Given the description of an element on the screen output the (x, y) to click on. 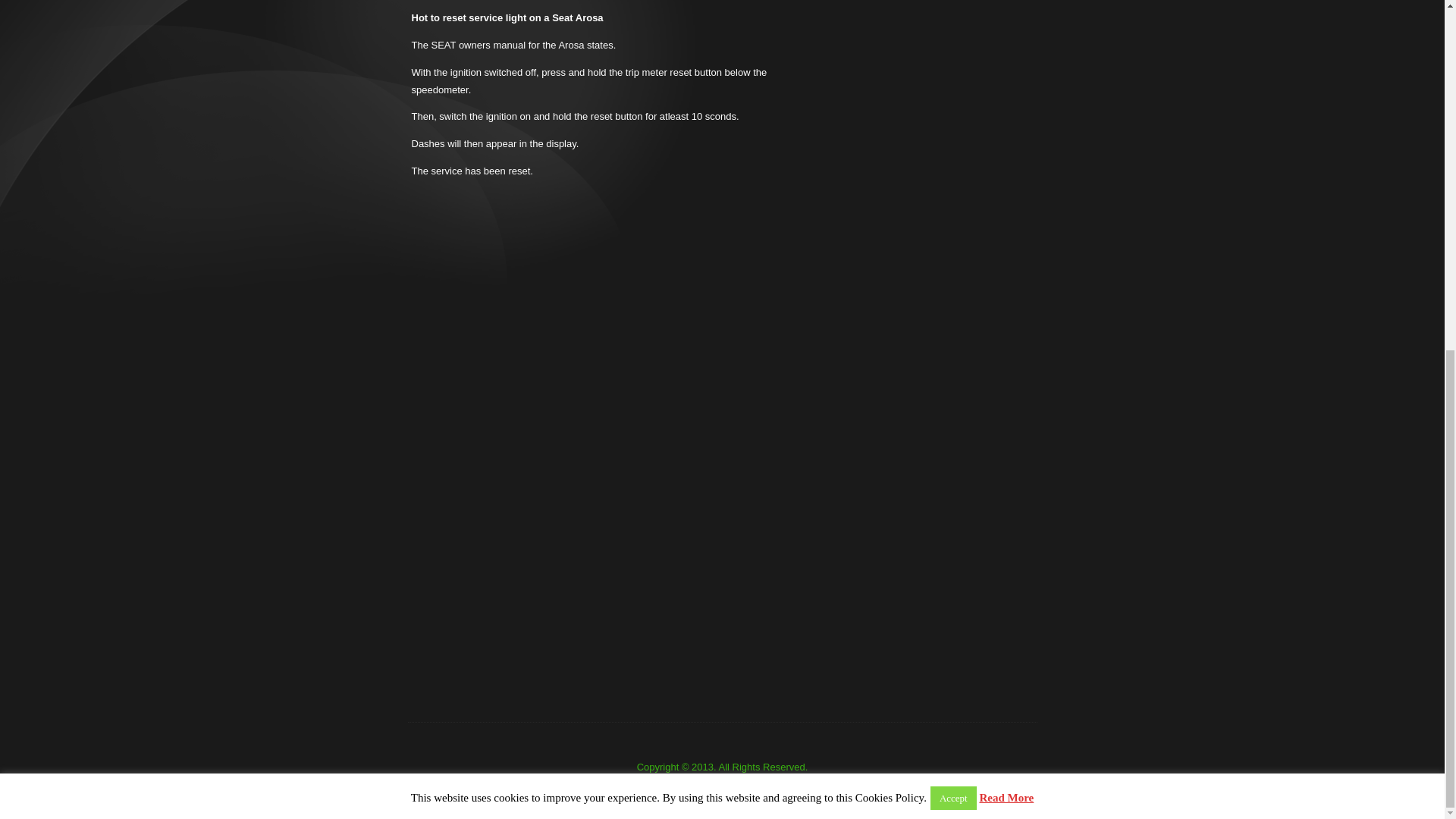
reset-service.com (743, 806)
Read More (1005, 191)
Accept (953, 191)
